Given the description of an element on the screen output the (x, y) to click on. 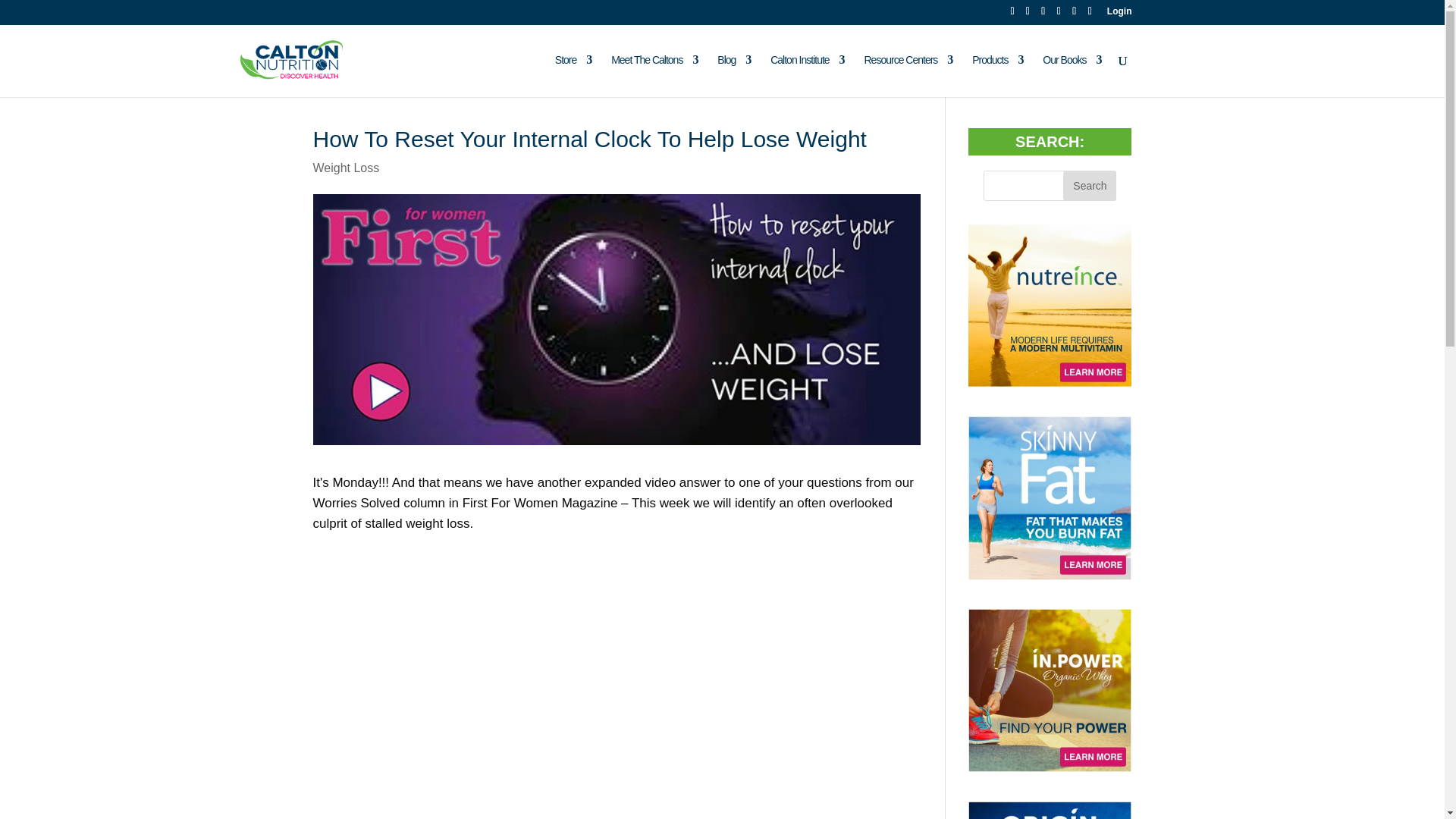
Products (997, 75)
Meet The Caltons (654, 75)
Search (1089, 185)
Calton Institute (807, 75)
Resource Centers (908, 75)
Login (1119, 14)
